Given the description of an element on the screen output the (x, y) to click on. 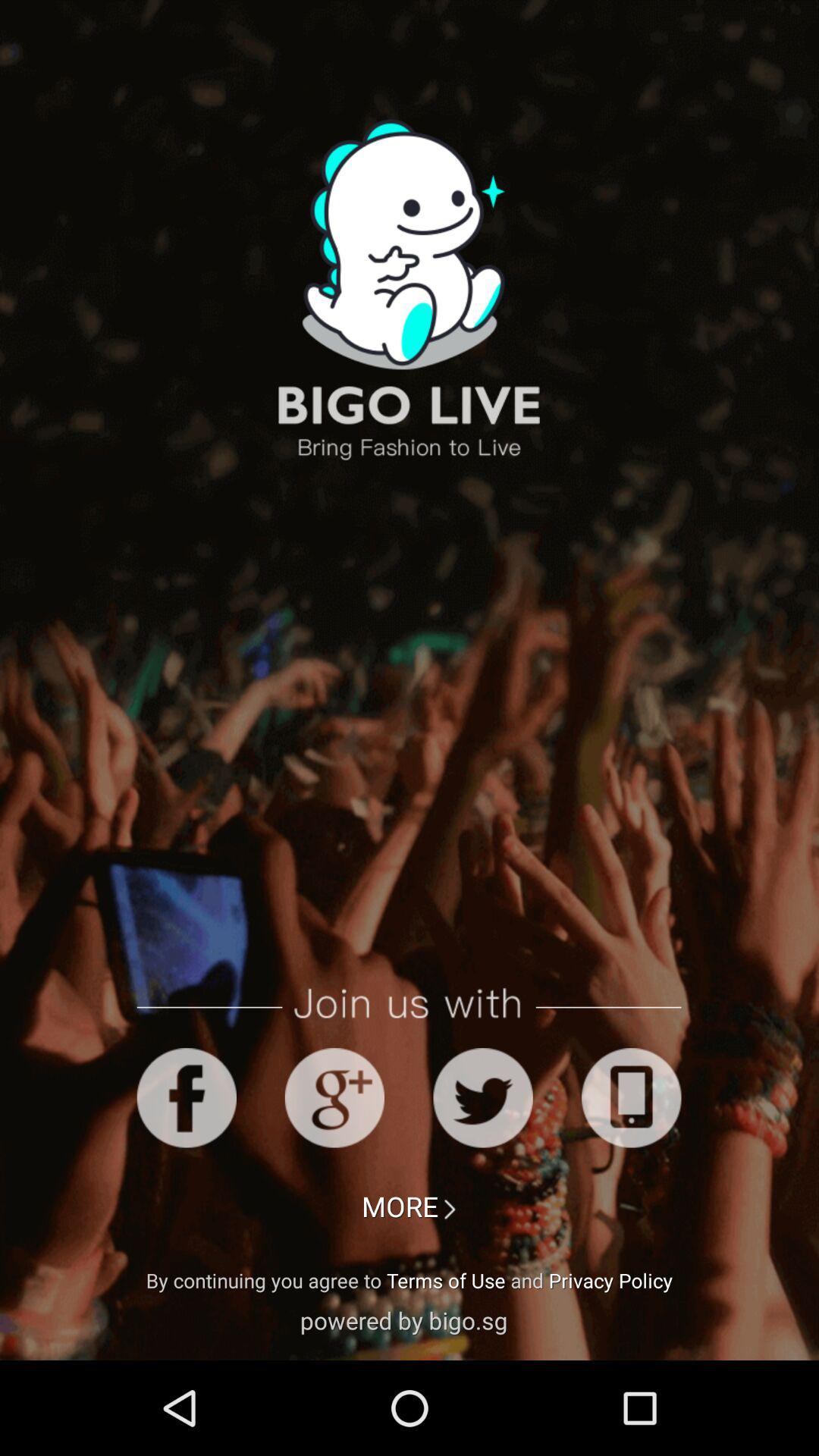
login with phone (631, 1097)
